Given the description of an element on the screen output the (x, y) to click on. 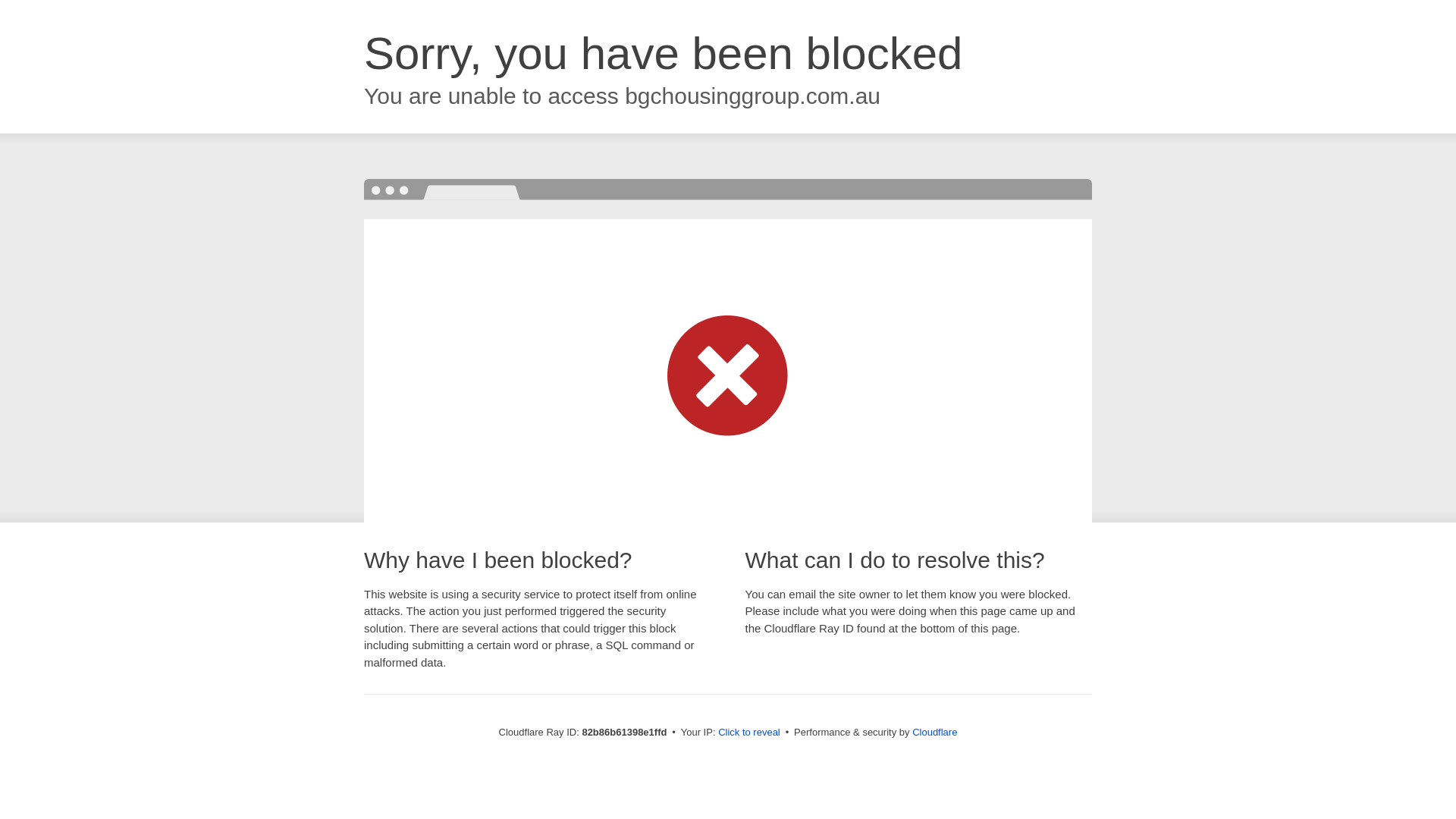
Cloudflare Element type: text (934, 731)
Click to reveal Element type: text (749, 732)
